Given the description of an element on the screen output the (x, y) to click on. 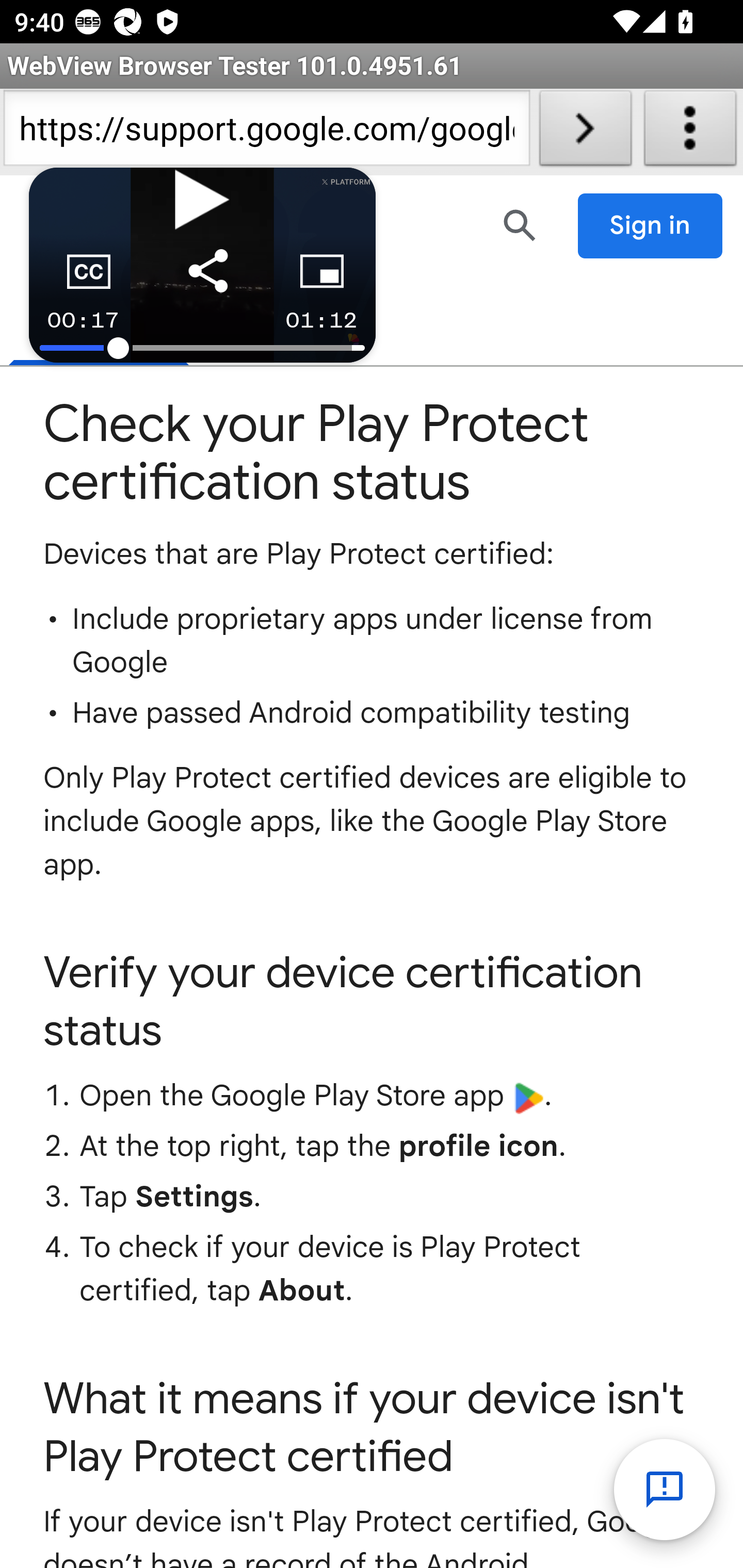
Load URL (585, 132)
About WebView (690, 132)
Search Help Center (519, 225)
Sign in (650, 226)
